Given the description of an element on the screen output the (x, y) to click on. 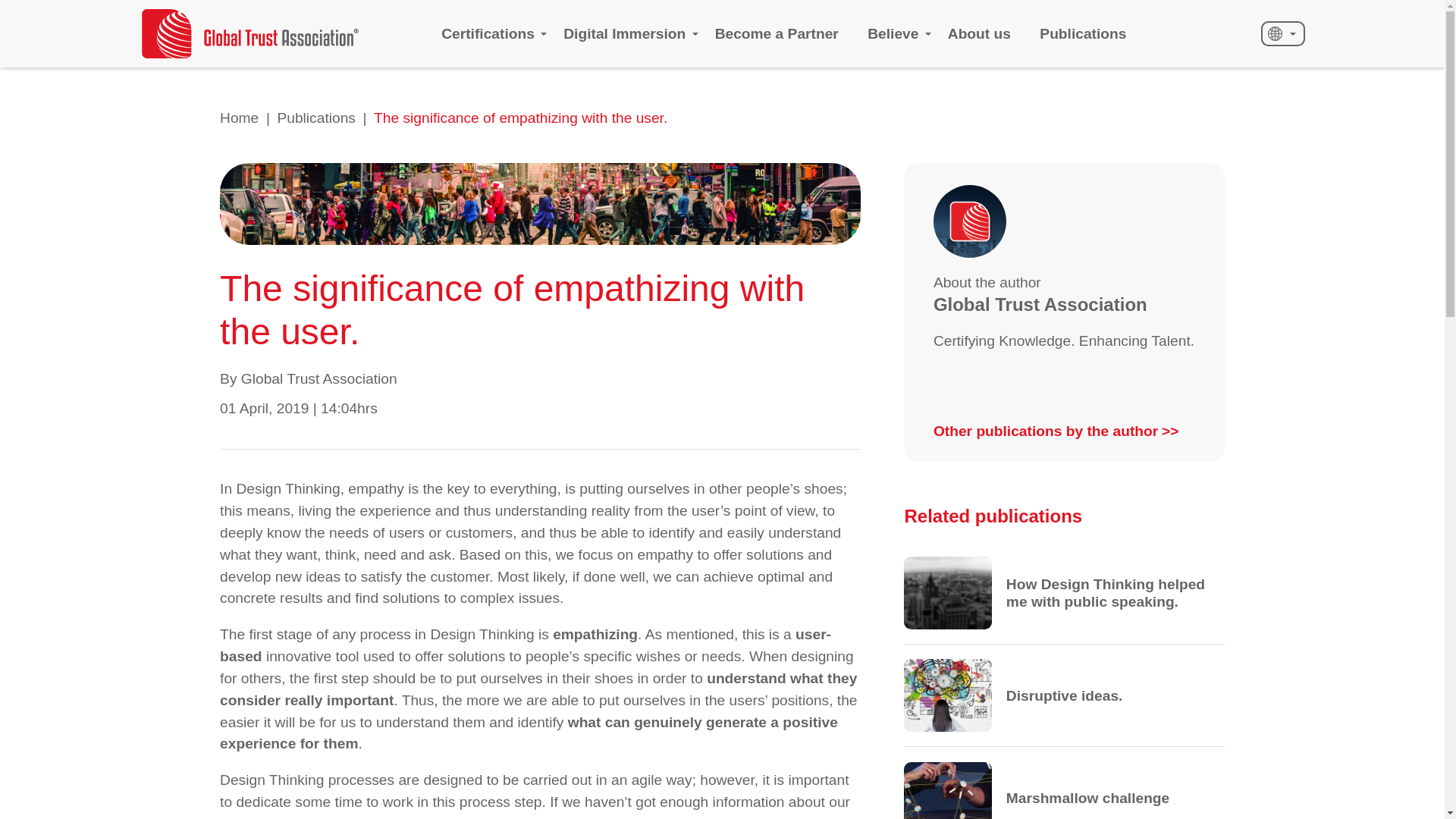
Digital Immersion (624, 33)
About us (978, 33)
Certifications (487, 33)
Publications (1082, 33)
Become a Partner (776, 33)
Believe (892, 33)
